Given the description of an element on the screen output the (x, y) to click on. 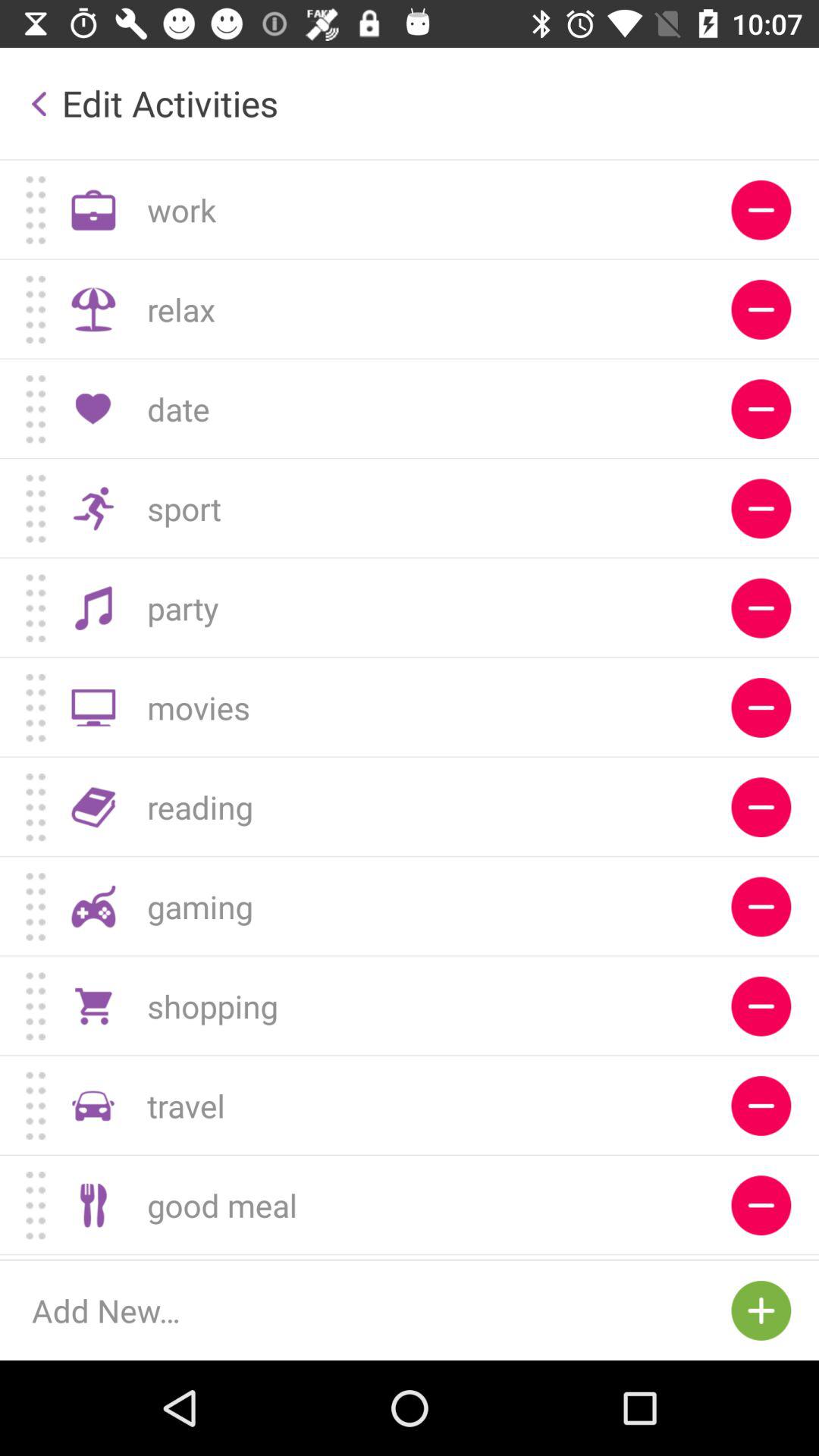
remove shopping (761, 1006)
